Given the description of an element on the screen output the (x, y) to click on. 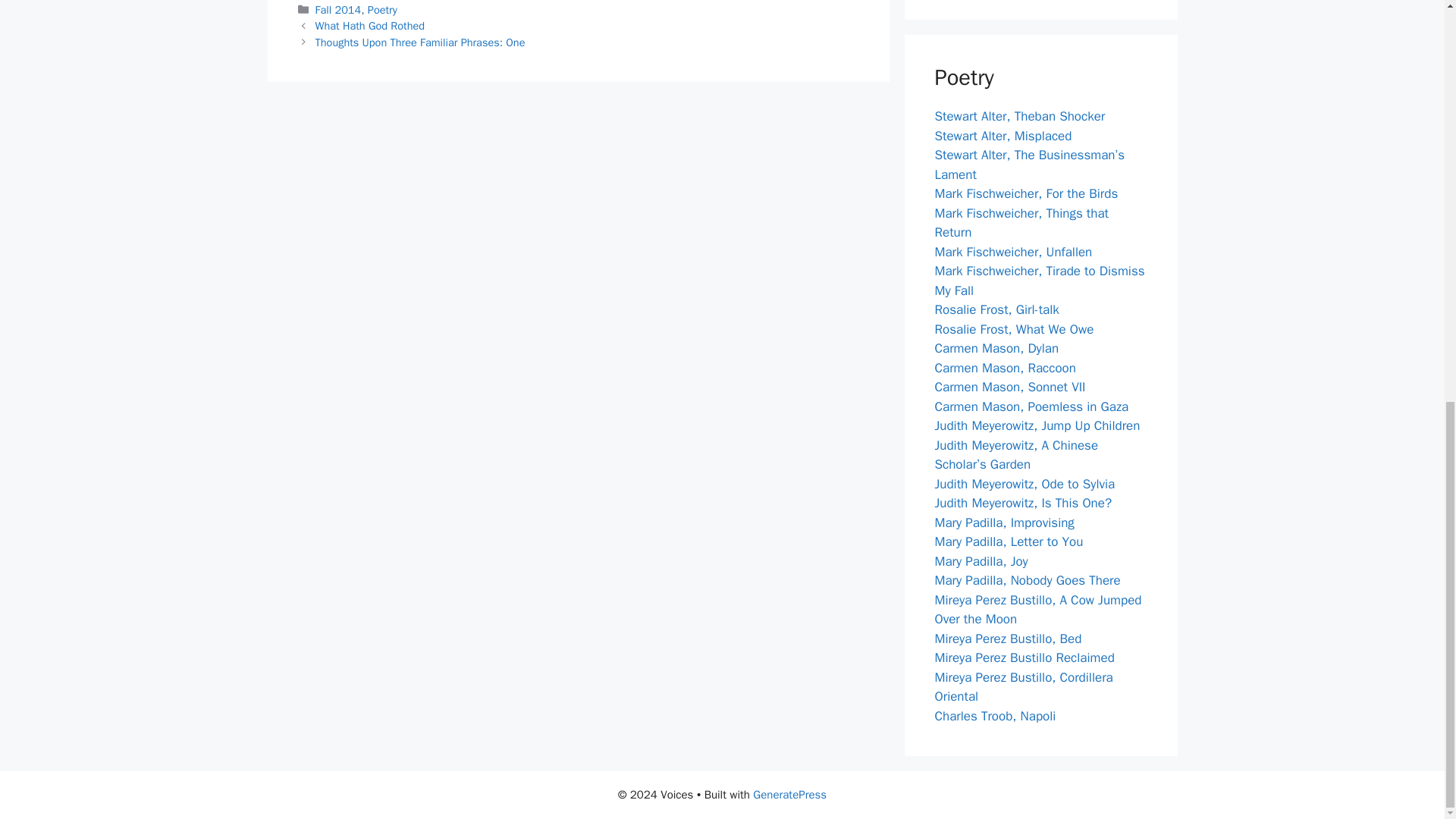
What Hath God Rothed (370, 25)
Fall 2014 (338, 9)
Thoughts Upon Three Familiar Phrases: One (420, 42)
Poetry (382, 9)
